Given the description of an element on the screen output the (x, y) to click on. 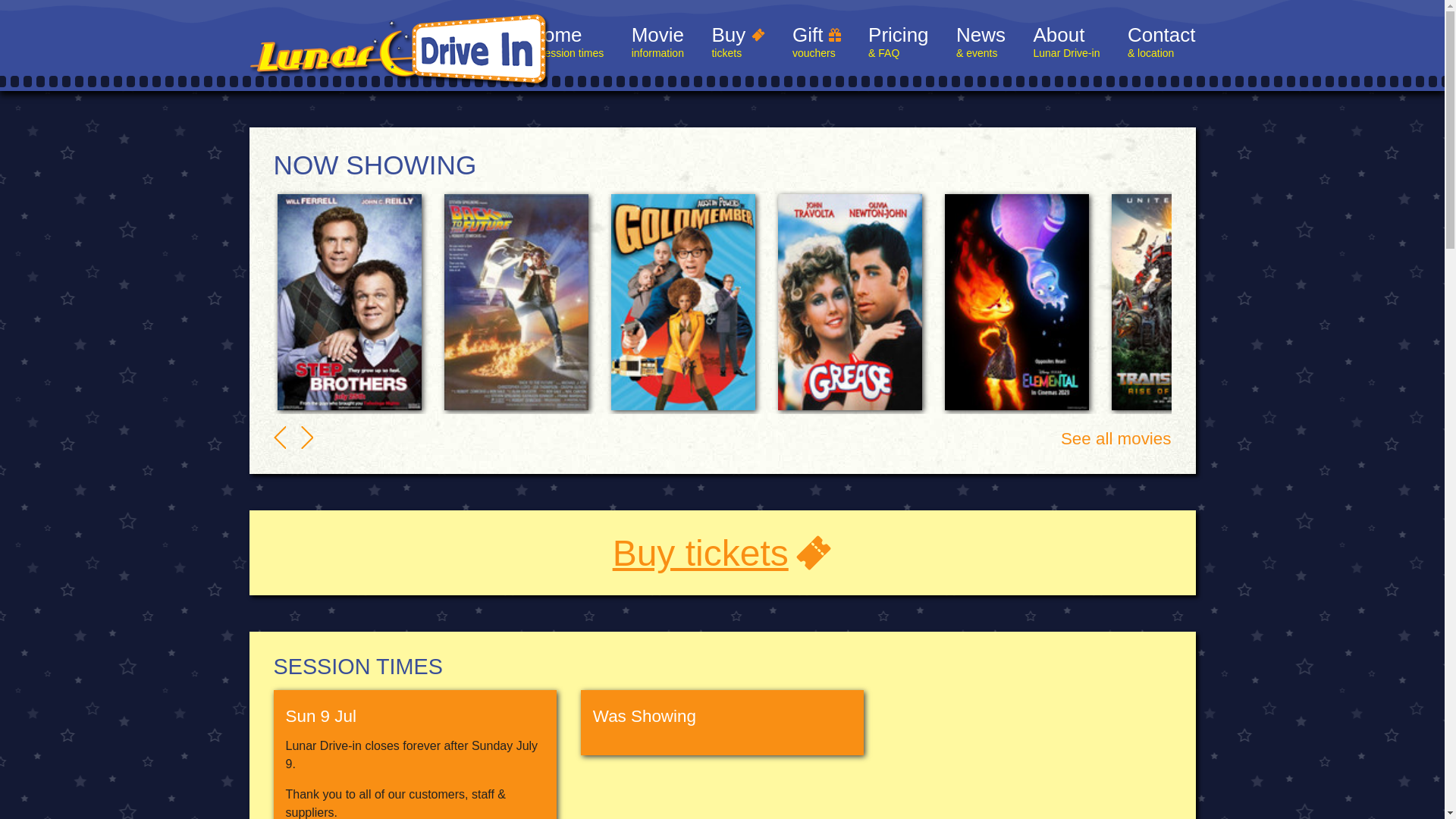
Buy 
tickets Element type: text (737, 43)
News
& events Element type: text (980, 43)
About
Lunar Drive-in Element type: text (1065, 43)
See all movies Element type: text (1115, 438)
Contact
& location Element type: text (1161, 43)
Gift 
vouchers Element type: text (816, 43)
  Element type: text (279, 437)
Pricing
& FAQ Element type: text (898, 43)
Movie
information Element type: text (657, 43)
  Element type: text (307, 437)
Home
& session times Element type: text (566, 43)
Buy tickets Element type: text (722, 553)
